Given the description of an element on the screen output the (x, y) to click on. 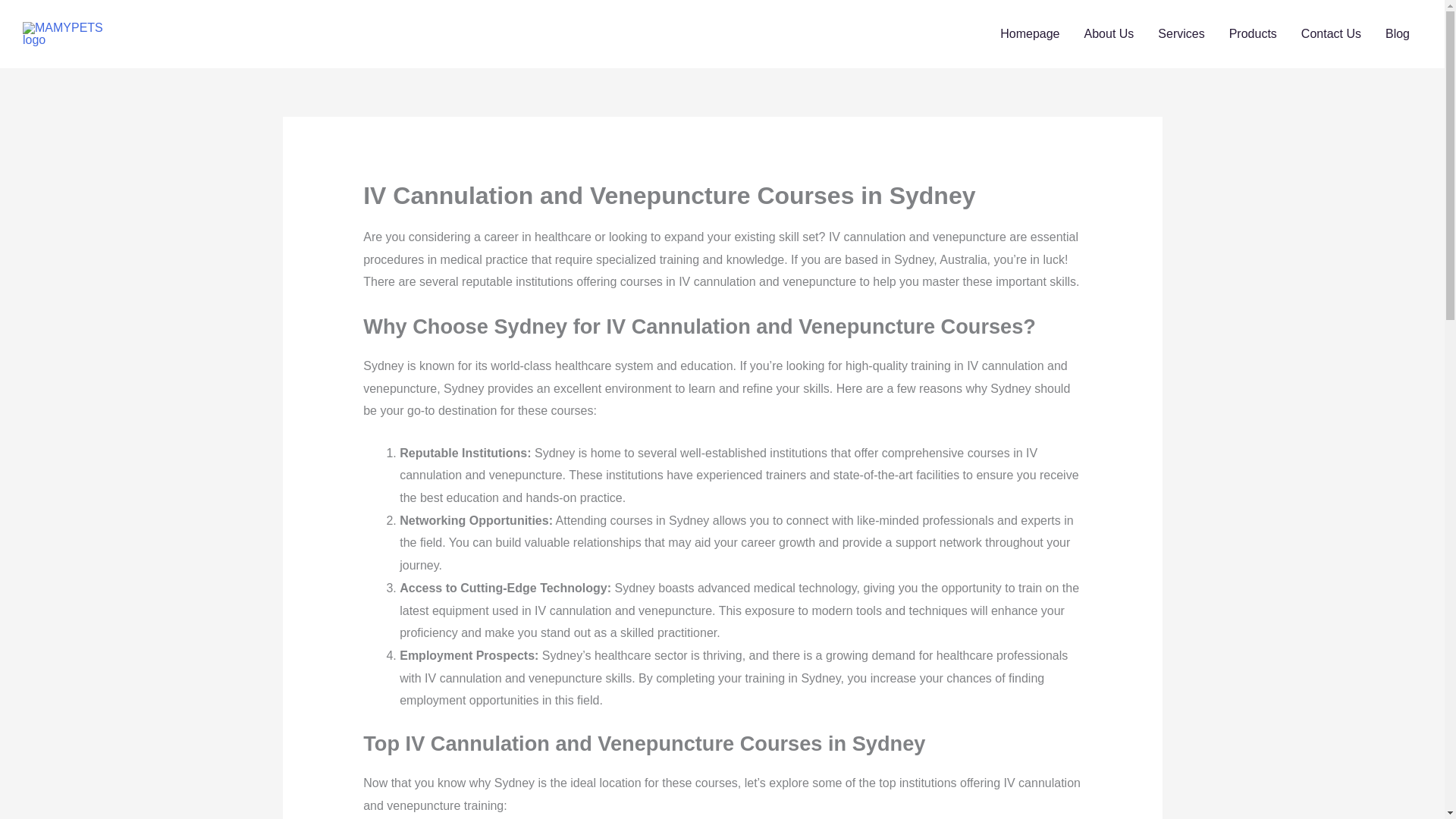
Services (1180, 33)
Homepage (1029, 33)
About Us (1109, 33)
Contact Us (1330, 33)
Products (1252, 33)
Blog (1397, 33)
